Given the description of an element on the screen output the (x, y) to click on. 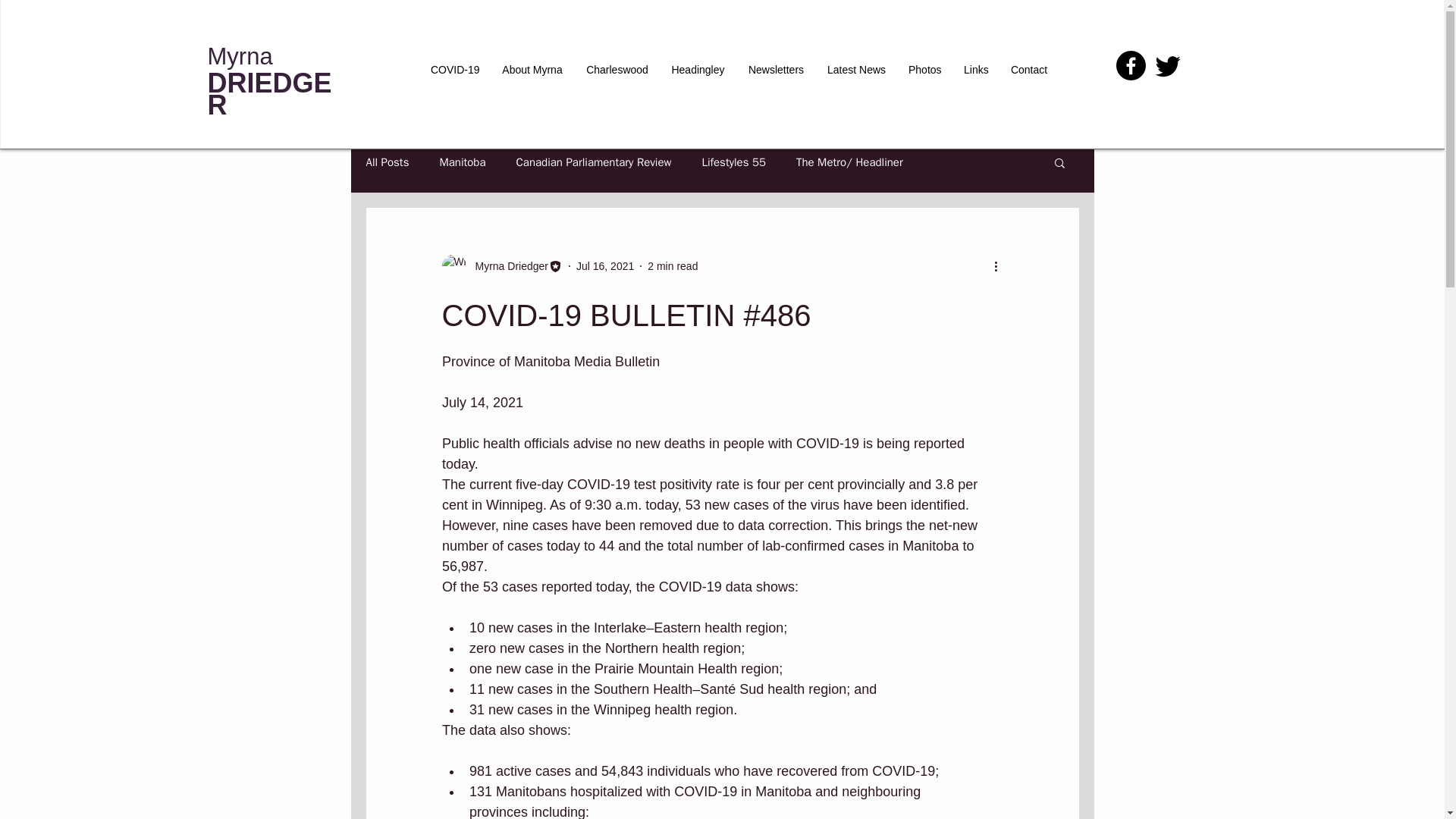
Newsletters (775, 70)
Manitoba (461, 161)
Headingley (697, 70)
About Myrna (532, 70)
Photos (924, 70)
Charleswood (617, 70)
All Posts (387, 161)
Jul 16, 2021 (604, 265)
Myrna (240, 56)
COVID-19 (454, 70)
Contact (1028, 70)
Myrna Driedger (506, 265)
2 min read (672, 265)
Latest News (855, 70)
DRIEDGER (269, 93)
